Given the description of an element on the screen output the (x, y) to click on. 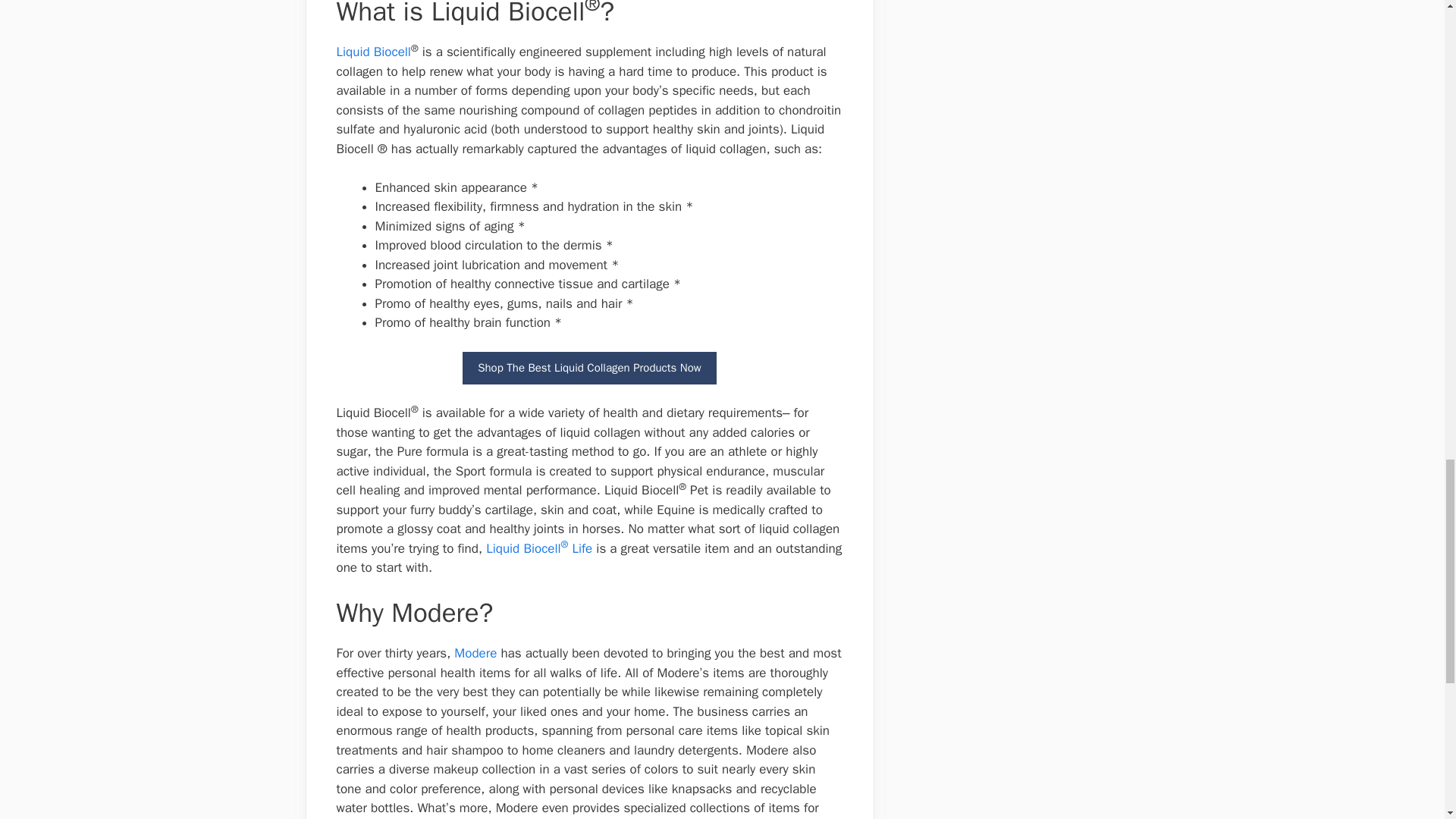
Modere (475, 652)
Liquid Biocell (373, 51)
Shop The Best Liquid Collagen Products Now (589, 368)
